Given the description of an element on the screen output the (x, y) to click on. 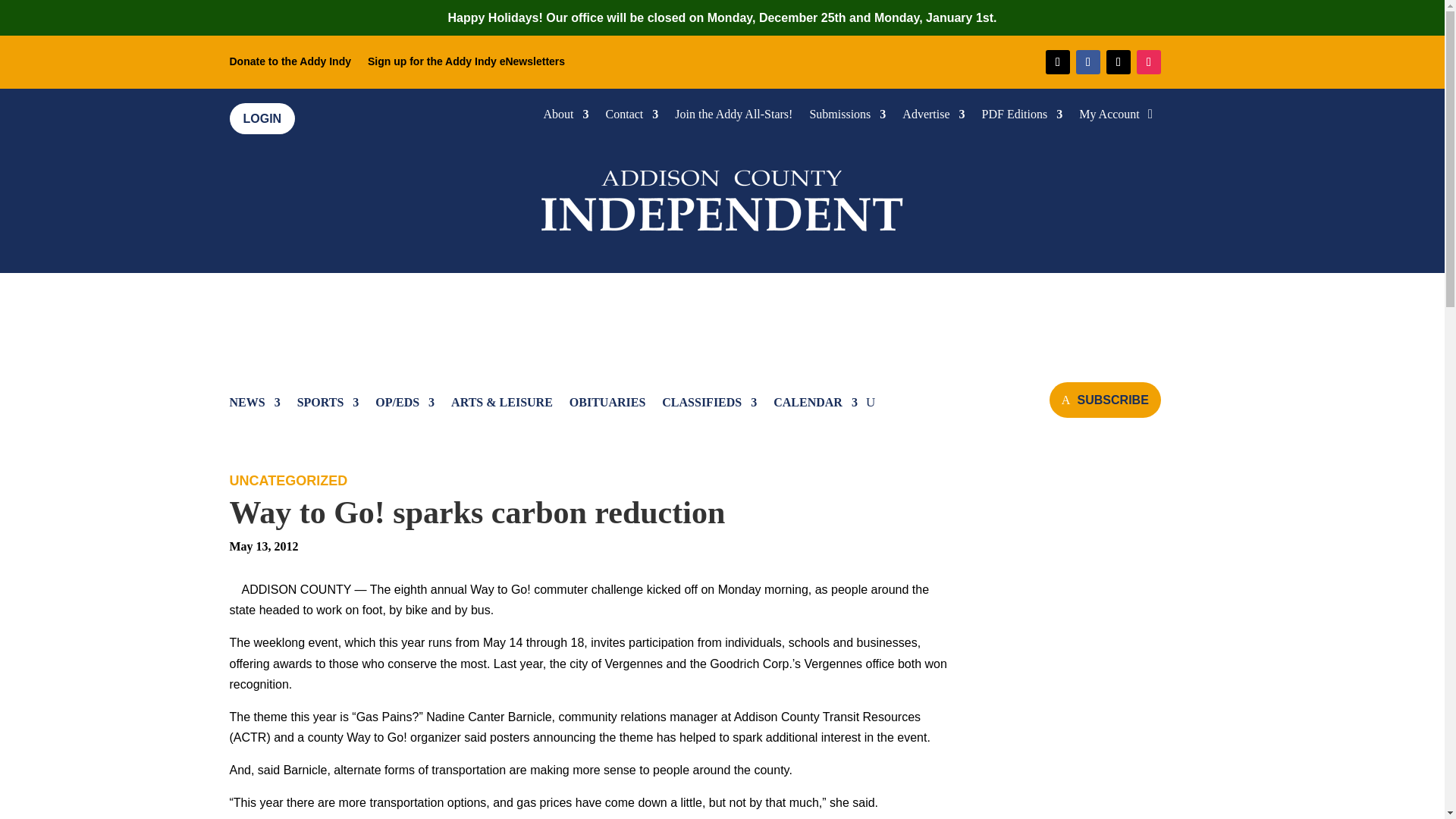
Follow on Mail (1057, 61)
PDF Editions (1021, 117)
Donate to the Addy Indy (289, 64)
Follow on Facebook (1087, 61)
Follow on X (1118, 61)
Join the Addy All-Stars! (733, 117)
Sign up for the Addy Indy eNewsletters (466, 64)
Advertise (932, 117)
Follow on Instagram (1148, 61)
3rd party ad content (722, 318)
Submissions (847, 117)
LOGIN (261, 118)
My Account (1109, 117)
About (566, 117)
addison-logo (721, 197)
